Given the description of an element on the screen output the (x, y) to click on. 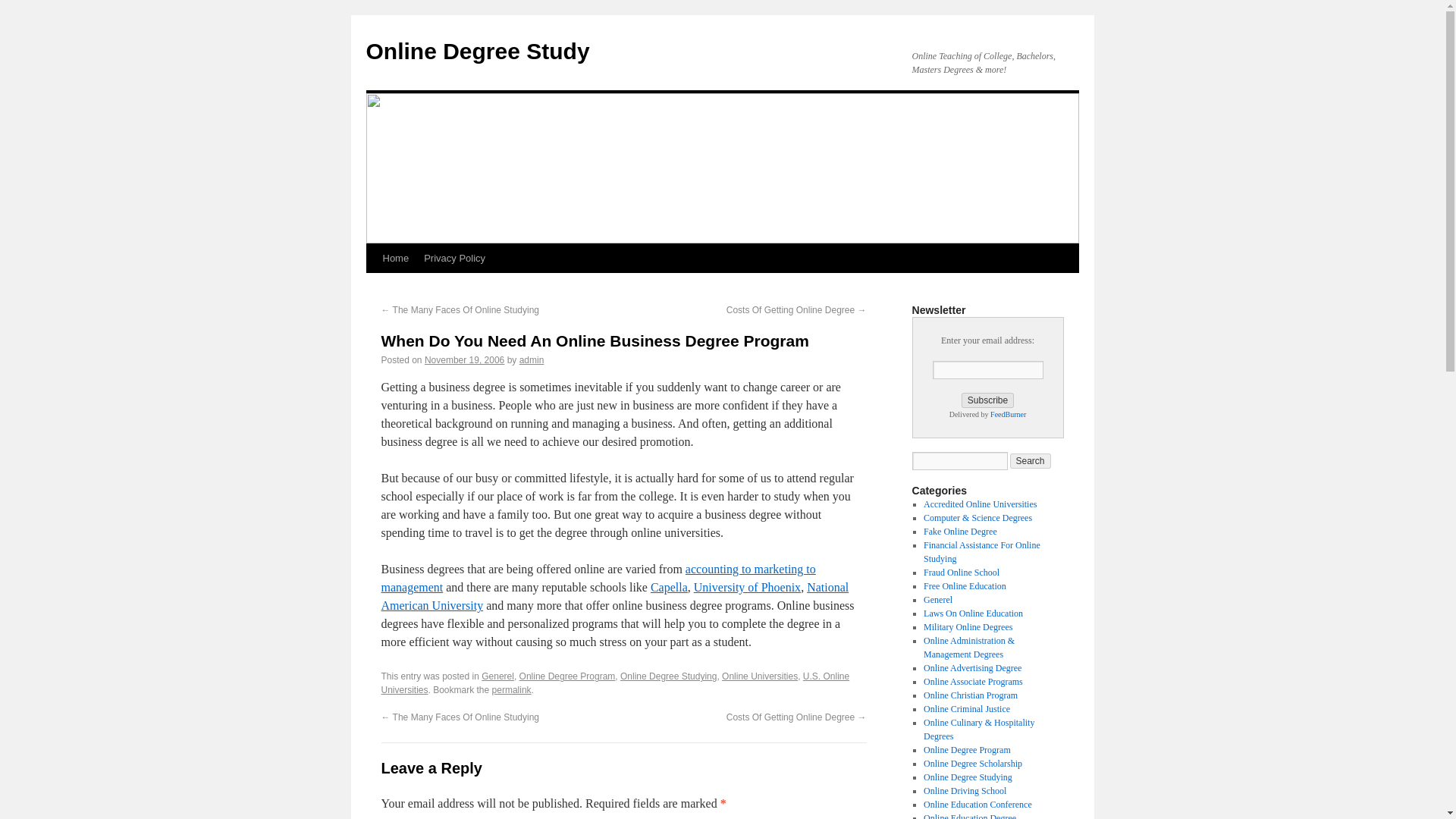
Online Associate Programs (973, 681)
View all posts by admin (531, 359)
Online Degree Studying (668, 675)
Online Christian Program (970, 695)
Accredited Online Universities (979, 503)
admin (531, 359)
Subscribe (986, 400)
Online Universities (759, 675)
6:39 pm (464, 359)
November 19, 2006 (464, 359)
